Given the description of an element on the screen output the (x, y) to click on. 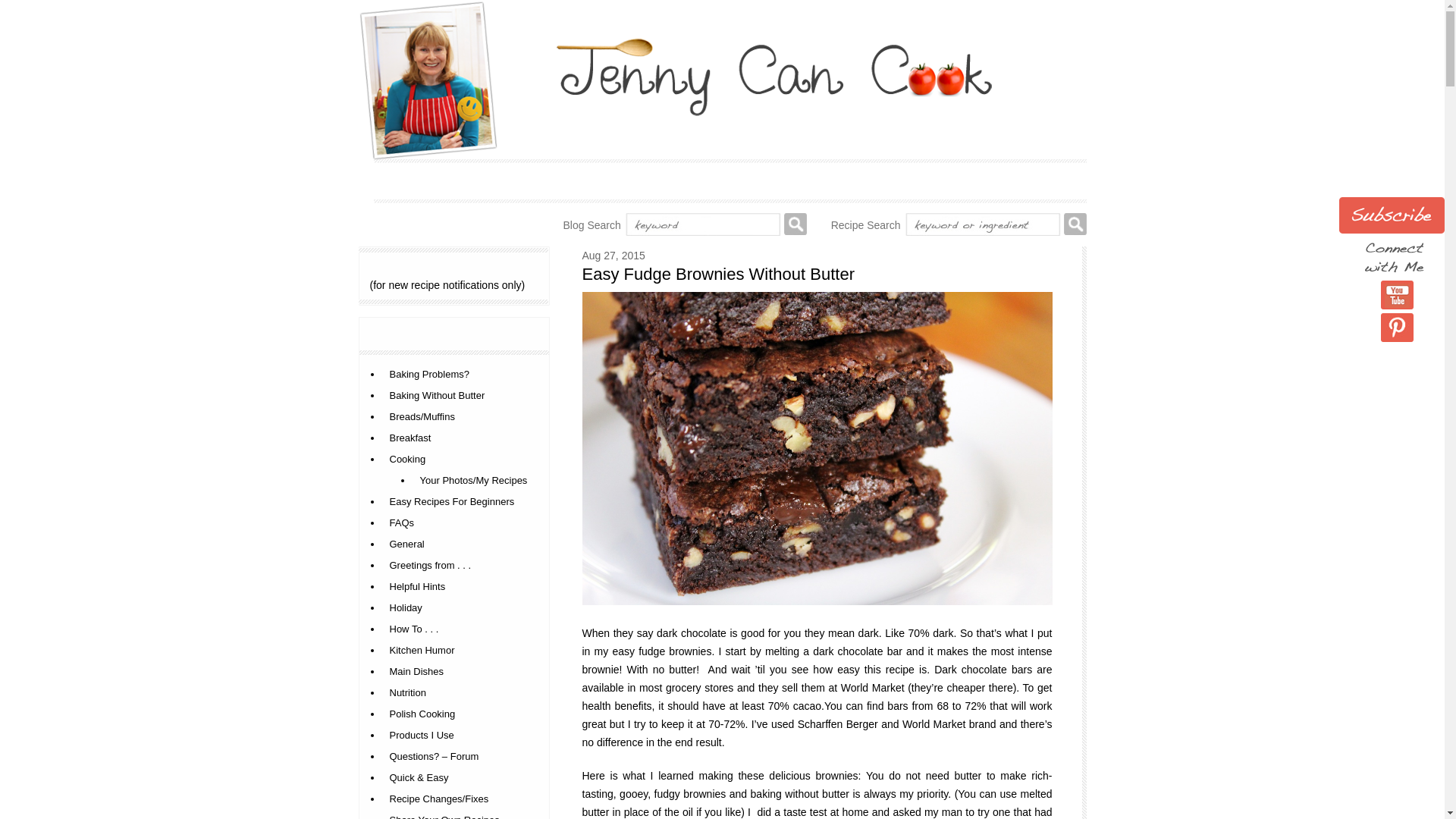
youtube (1396, 294)
Search (1074, 223)
pinterest (1396, 327)
Search (1074, 223)
Search (795, 223)
Search (795, 223)
